Given the description of an element on the screen output the (x, y) to click on. 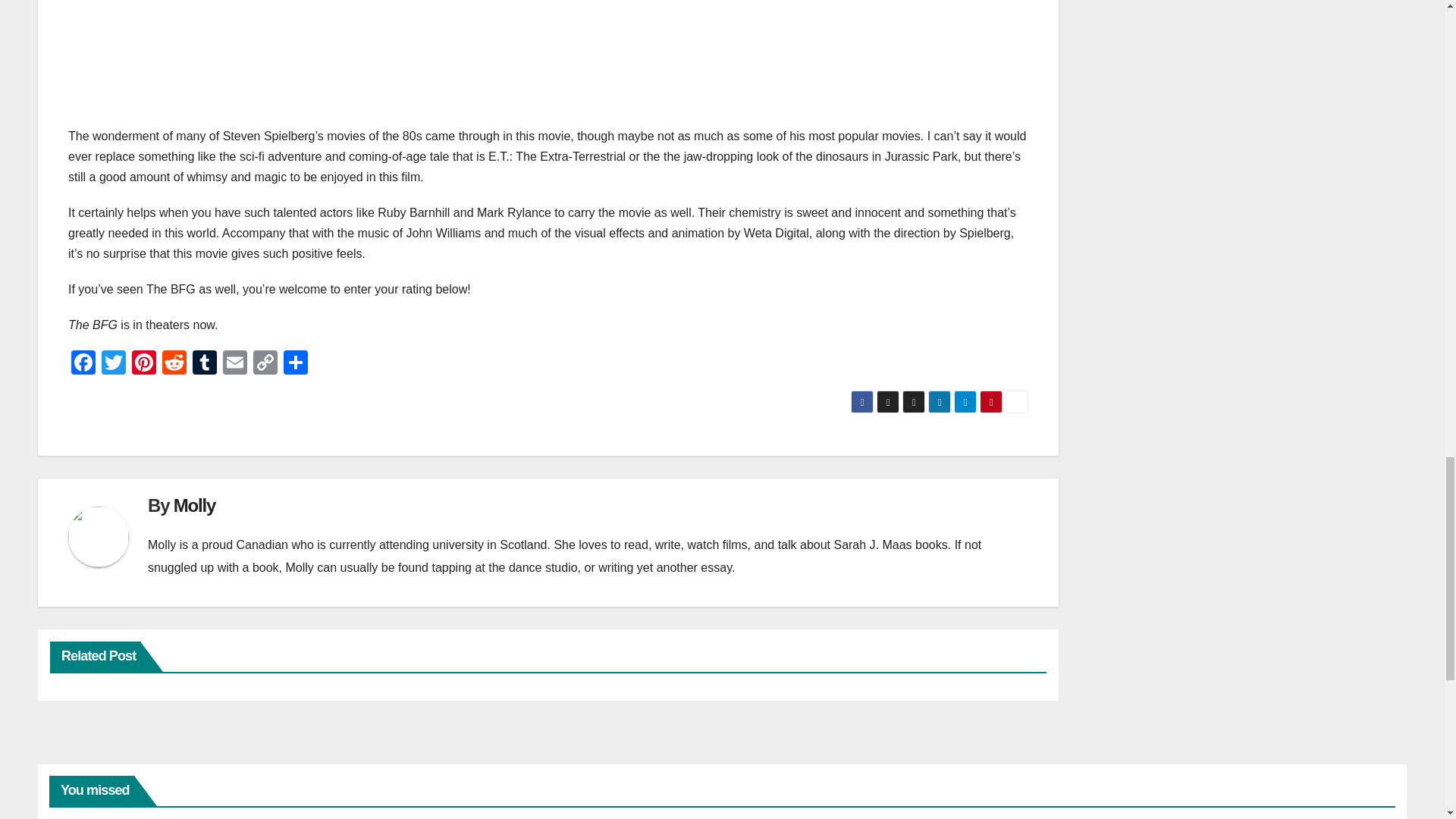
Facebook (83, 364)
Tumblr (204, 364)
Reddit (173, 364)
Pinterest (143, 364)
Copy Link (265, 364)
Reddit (173, 364)
Email (234, 364)
Copy Link (265, 364)
Twitter (114, 364)
Tumblr (204, 364)
